Given the description of an element on the screen output the (x, y) to click on. 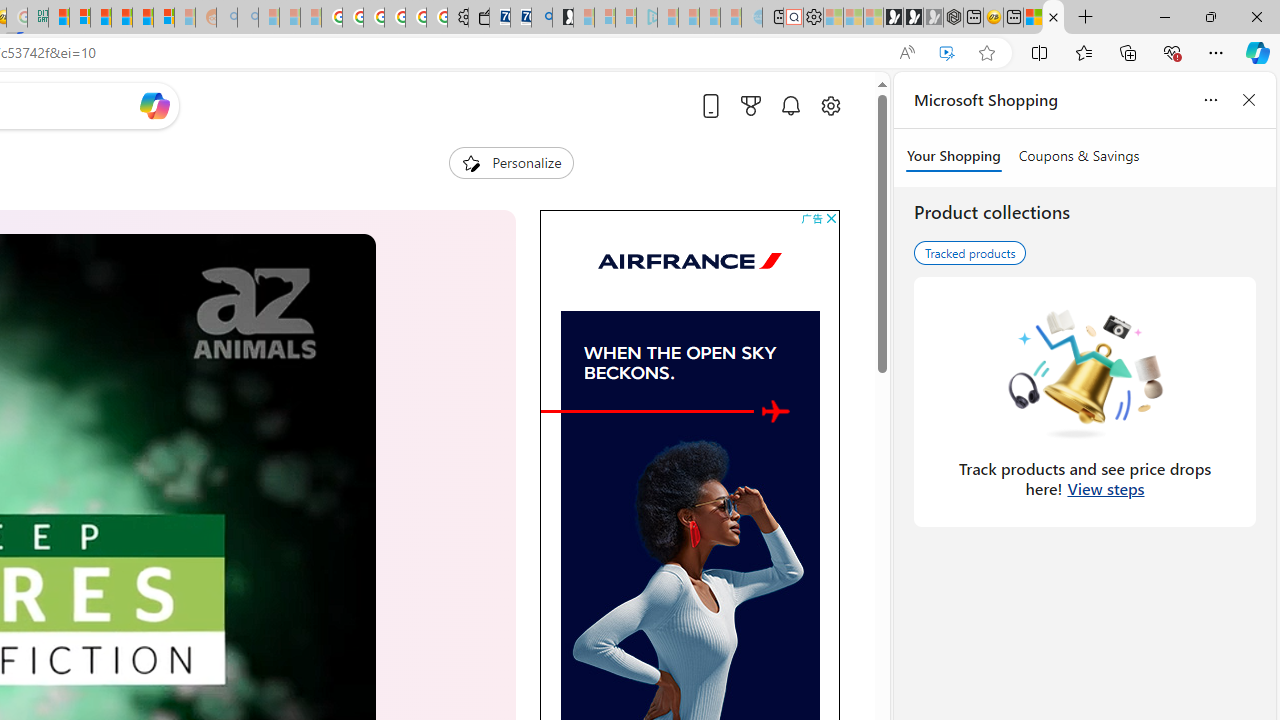
Utah sues federal government - Search - Sleeping (248, 17)
Wallet (478, 17)
To get missing image descriptions, open the context menu. (787, 412)
Kinda Frugal - MSN (143, 17)
Play Free Online Games | Games from Microsoft Start (893, 17)
Cheap Car Rentals - Save70.com (520, 17)
